Given the description of an element on the screen output the (x, y) to click on. 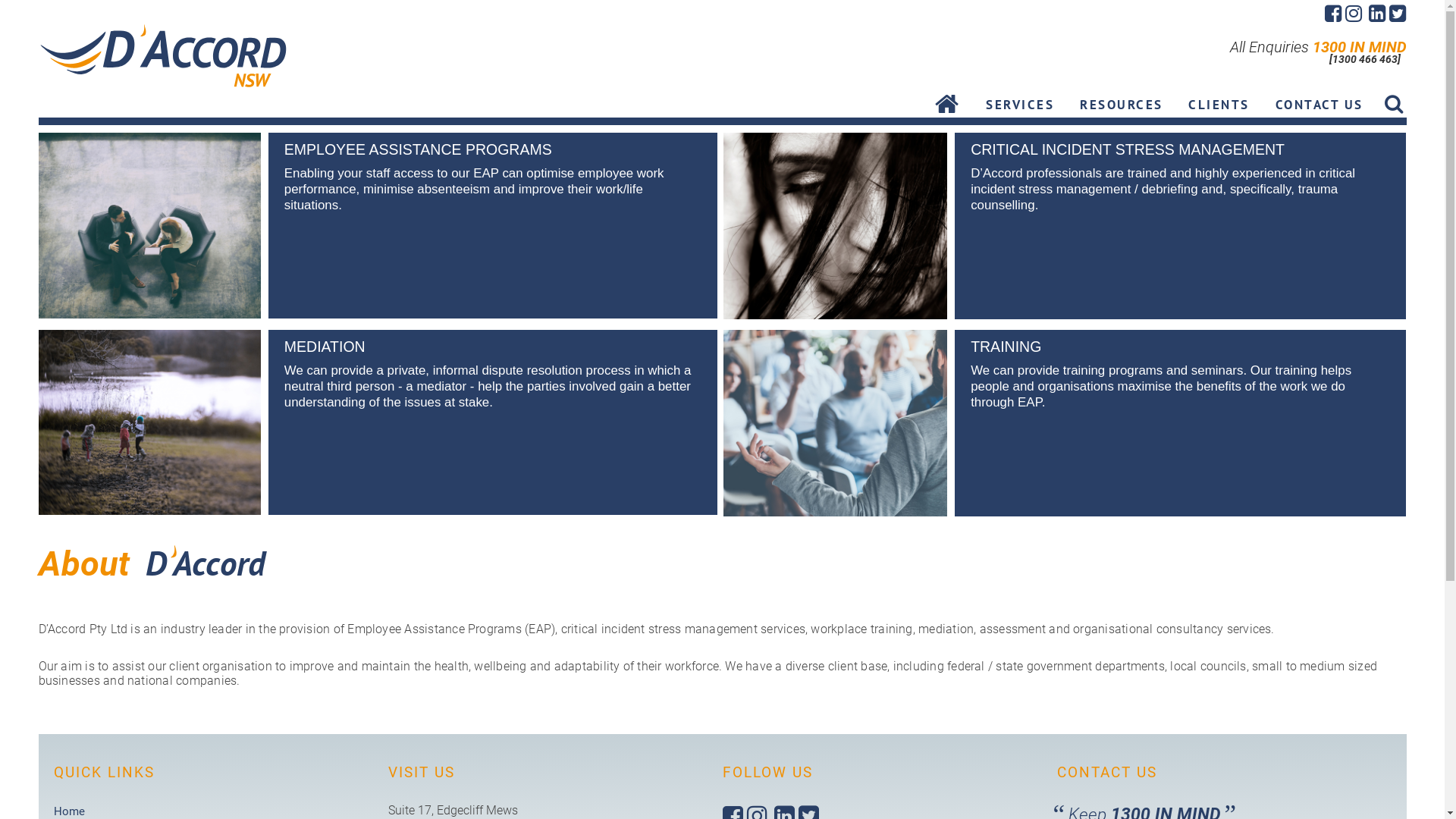
CLIENTS Element type: text (1218, 108)
SERVICES Element type: text (1019, 108)
RESOURCES Element type: text (1121, 108)
CONTACT US Element type: text (1319, 108)
1300 IN MIND
[1300 466 463] Element type: text (1357, 47)
